Given the description of an element on the screen output the (x, y) to click on. 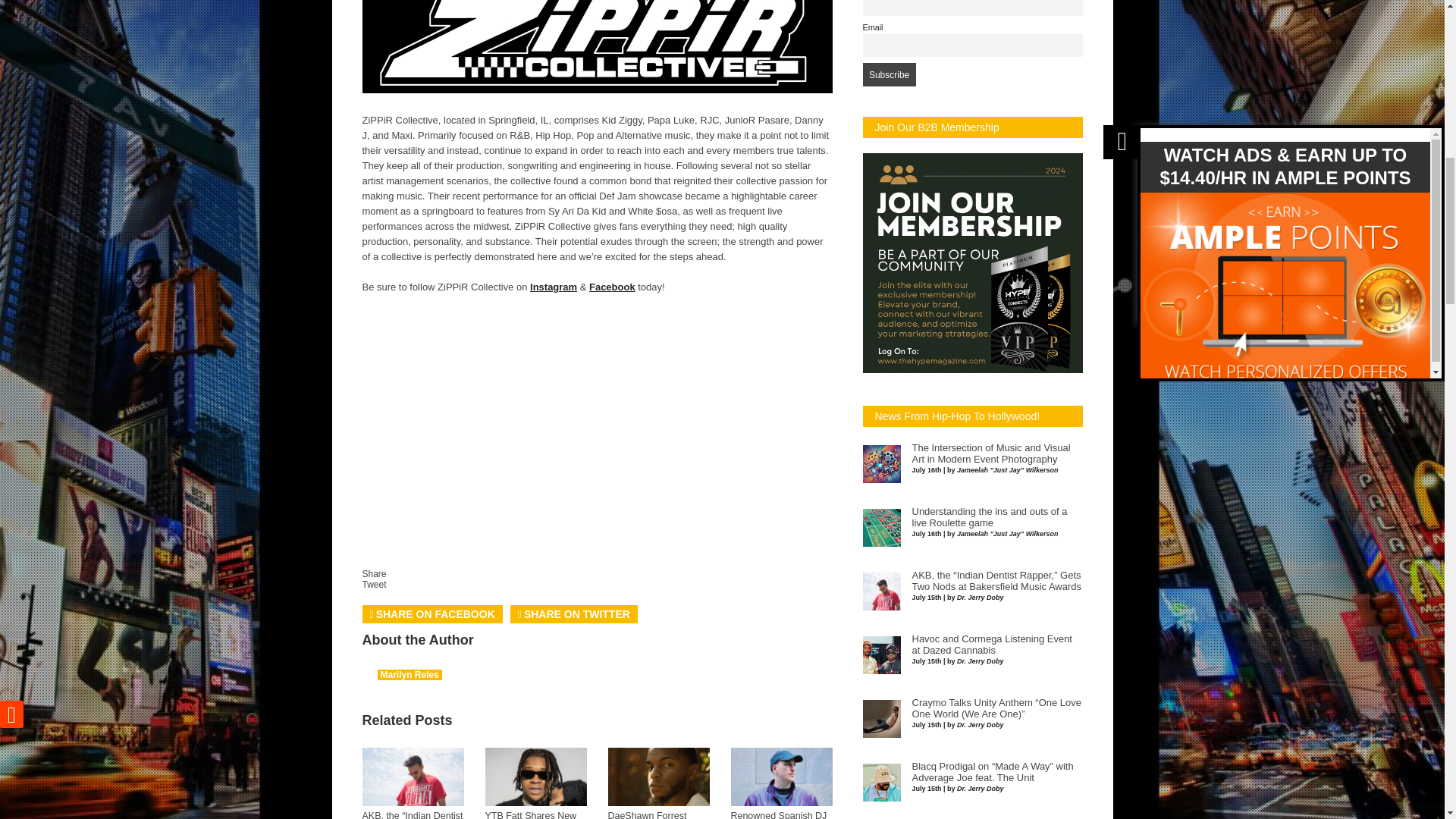
Instagram (552, 286)
Tweet (374, 584)
Subscribe (889, 74)
Understanding the ins and outs of a live Roulette game (989, 517)
Marilyn Reles (409, 674)
SHARE ON TWITTER (574, 614)
Share (374, 573)
Posts by Marilyn Reles (409, 674)
SHARE ON FACEBOOK (432, 614)
Havoc and Cormega Listening Event at Dazed Cannabis (991, 644)
Facebook (611, 286)
